Given the description of an element on the screen output the (x, y) to click on. 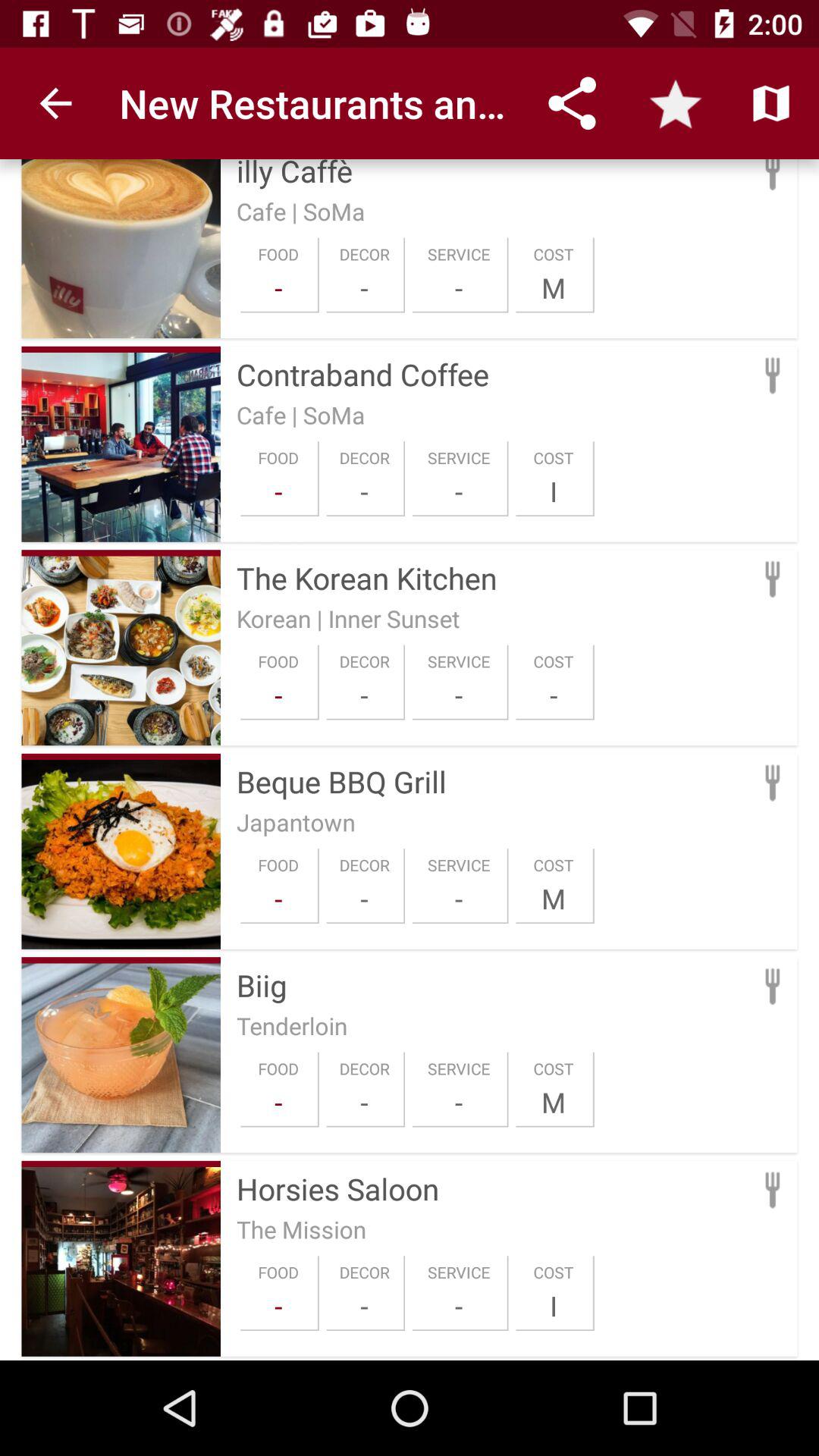
launch icon to the left of the decor icon (278, 694)
